Given the description of an element on the screen output the (x, y) to click on. 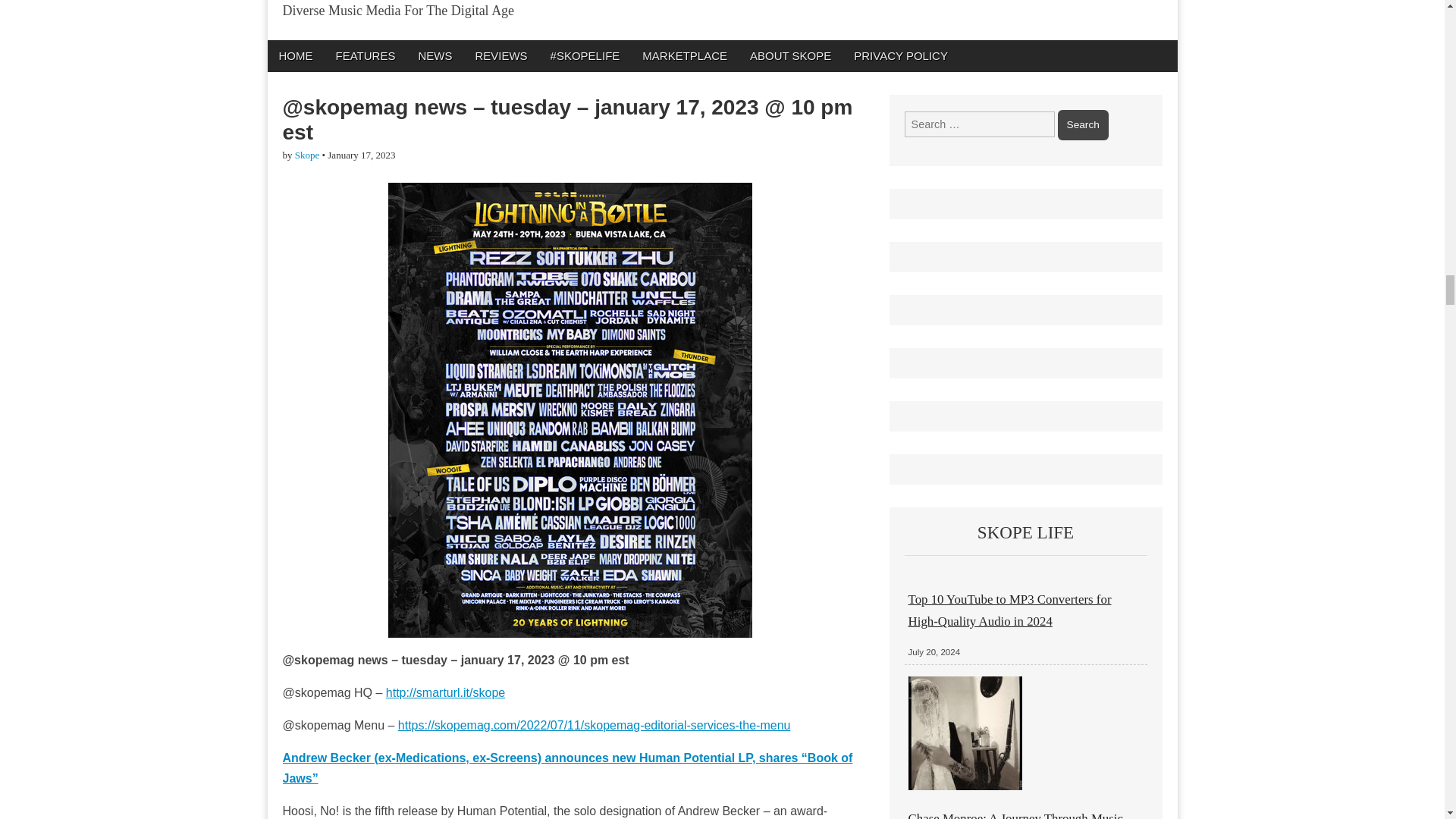
NEWS (434, 55)
Skope (307, 154)
Search (1083, 124)
Posts by Skope (307, 154)
Search (1083, 124)
ABOUT SKOPE (790, 55)
PRIVACY POLICY (901, 55)
Chase Monroe: A Journey Through Music (1015, 815)
FEATURES (365, 55)
Search (1083, 124)
MARKETPLACE (684, 55)
REVIEWS (500, 55)
